Given the description of an element on the screen output the (x, y) to click on. 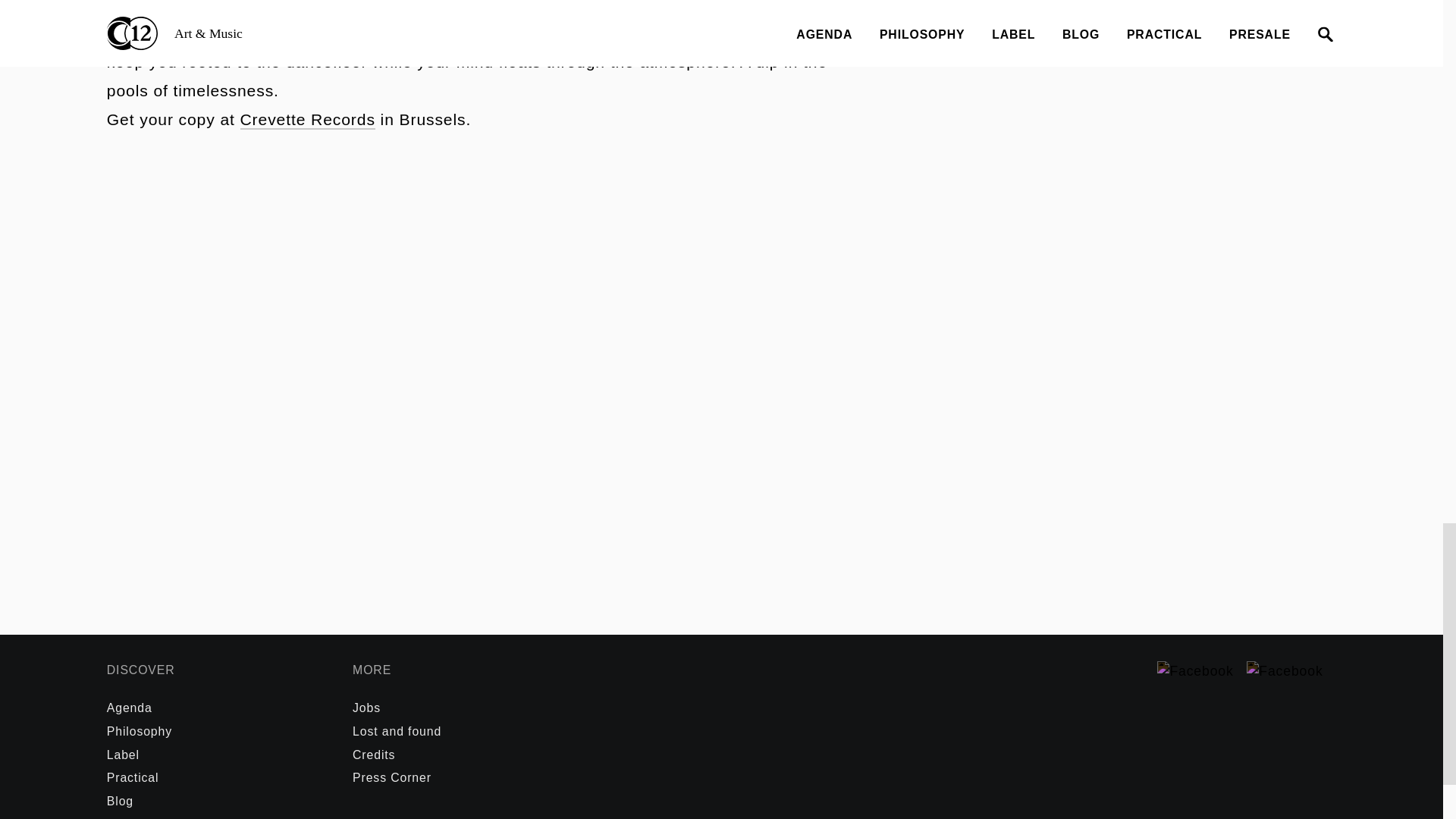
Practical (132, 777)
Lost and found (396, 730)
Crevette Records (307, 119)
Agenda (129, 707)
Credits (373, 754)
Philosophy (138, 730)
Press Corner (391, 777)
Blog (119, 800)
Jobs (366, 707)
Label (122, 754)
